Given the description of an element on the screen output the (x, y) to click on. 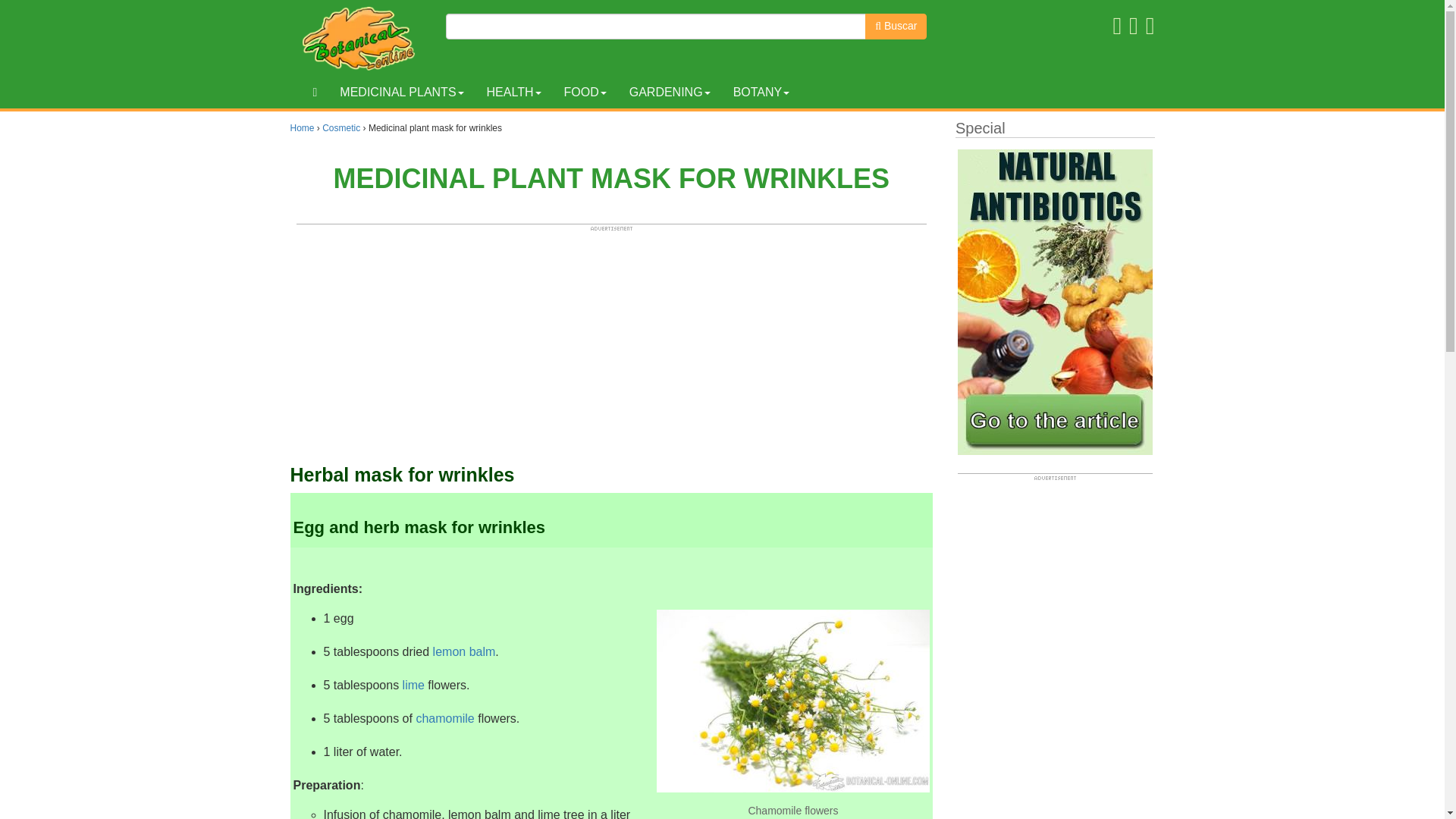
HEALTH (514, 92)
GARDENING (669, 92)
Buscar (895, 26)
Botanical-Online (362, 37)
FOOD (584, 92)
MEDICINAL PLANTS (401, 92)
Advertisement (611, 337)
